Given the description of an element on the screen output the (x, y) to click on. 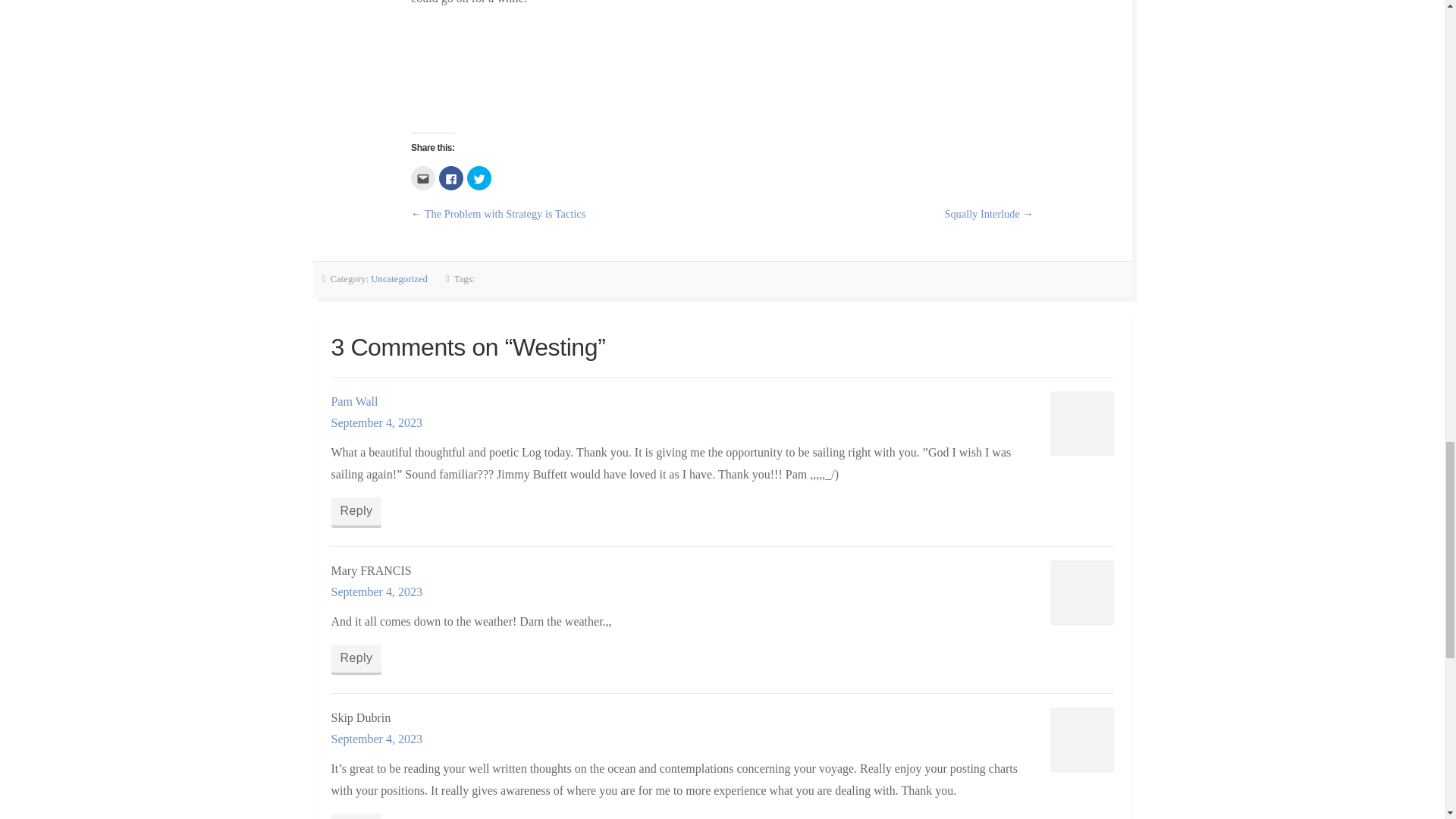
Squally Interlude (981, 214)
September 4, 2023 (376, 422)
The Problem with Strategy is Tactics (505, 214)
Reply (355, 658)
September 4, 2023 (376, 738)
September 4, 2023 (376, 591)
Click to email this to a friend (422, 178)
Click to share on Twitter (479, 178)
Reply (355, 816)
Uncategorized (399, 278)
Pam Wall (353, 400)
Click to share on Facebook (451, 178)
Reply (355, 511)
